Given the description of an element on the screen output the (x, y) to click on. 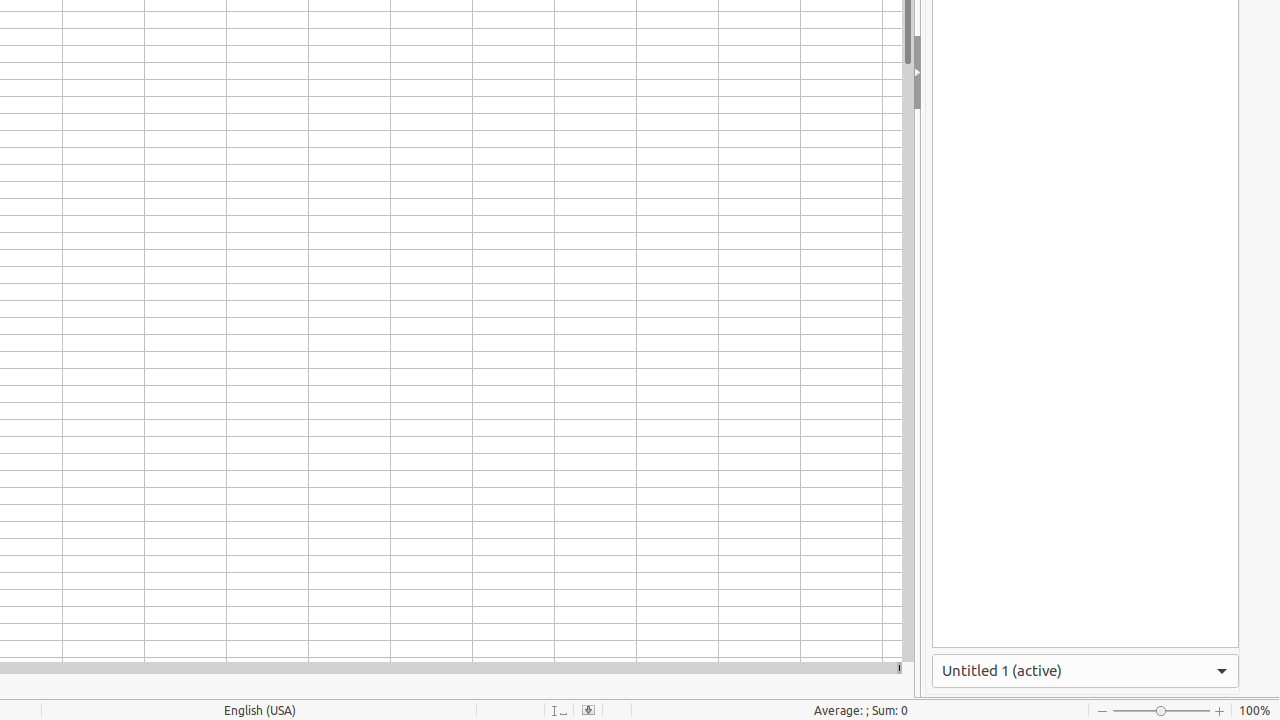
Active Window Element type: combo-box (1085, 671)
